Given the description of an element on the screen output the (x, y) to click on. 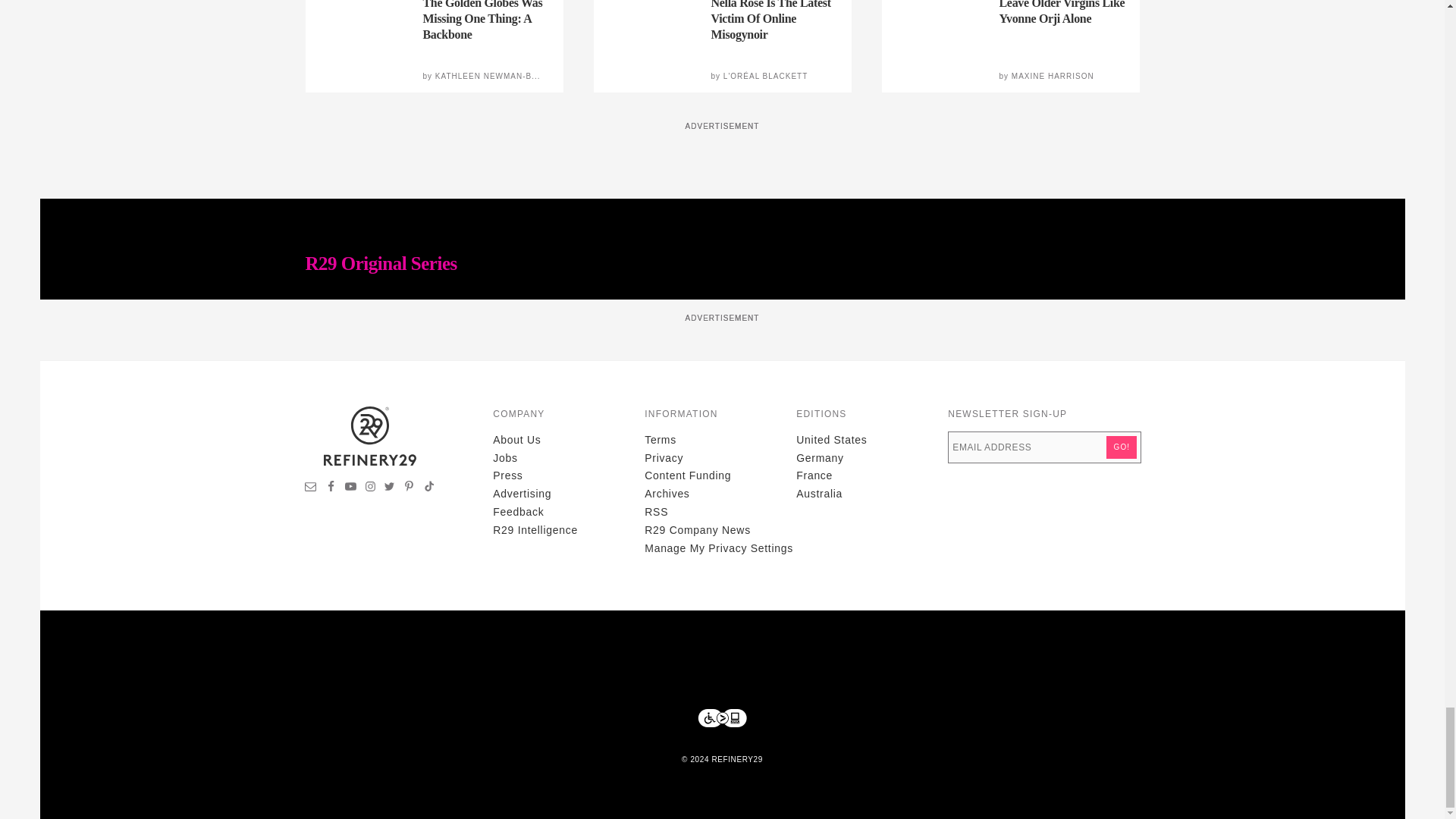
Visit Refinery29 on YouTube (350, 488)
Sign up for newsletters (310, 488)
Visit Refinery29 on TikTok (428, 488)
